Given the description of an element on the screen output the (x, y) to click on. 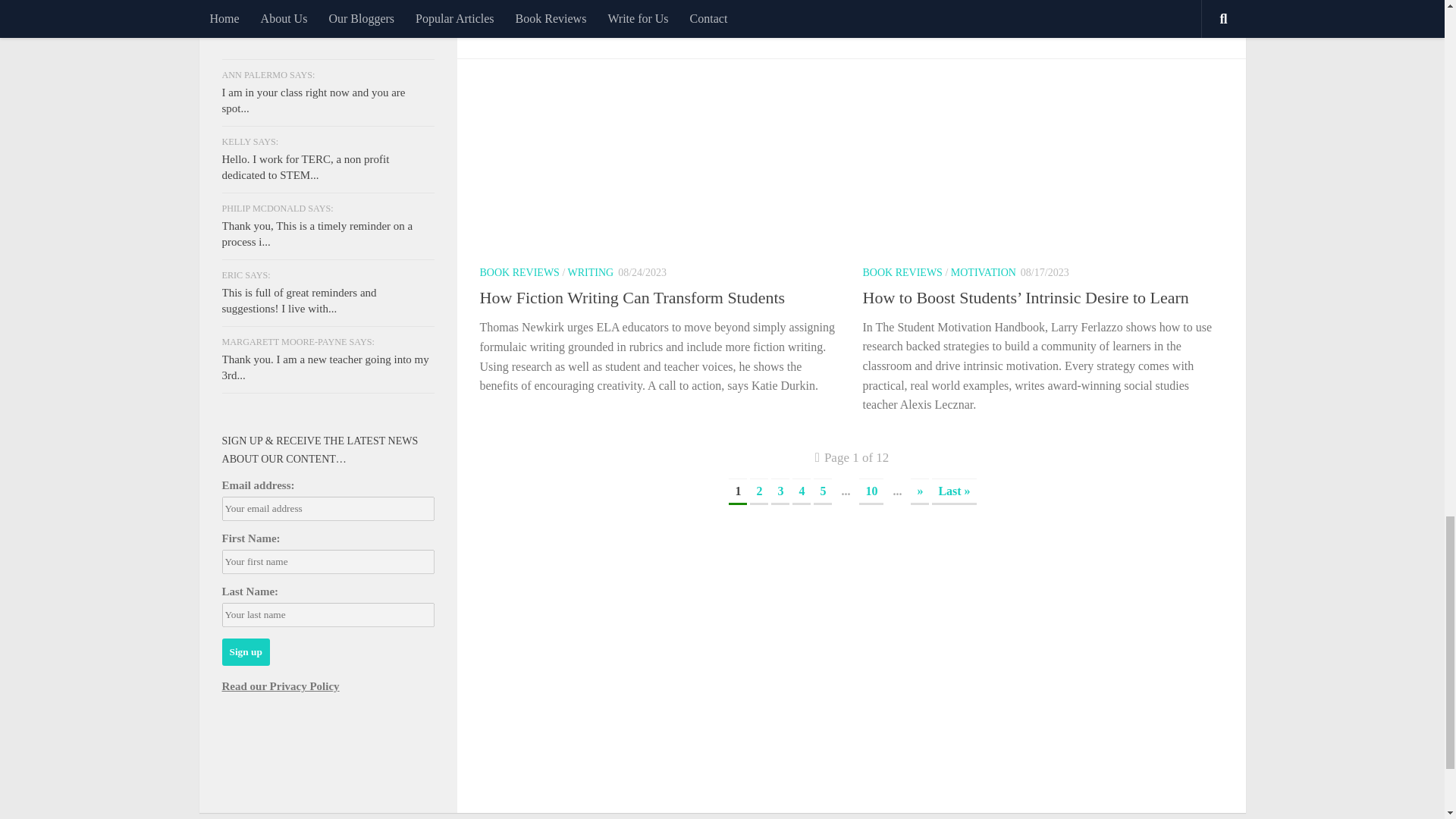
Sign up (245, 651)
